Given the description of an element on the screen output the (x, y) to click on. 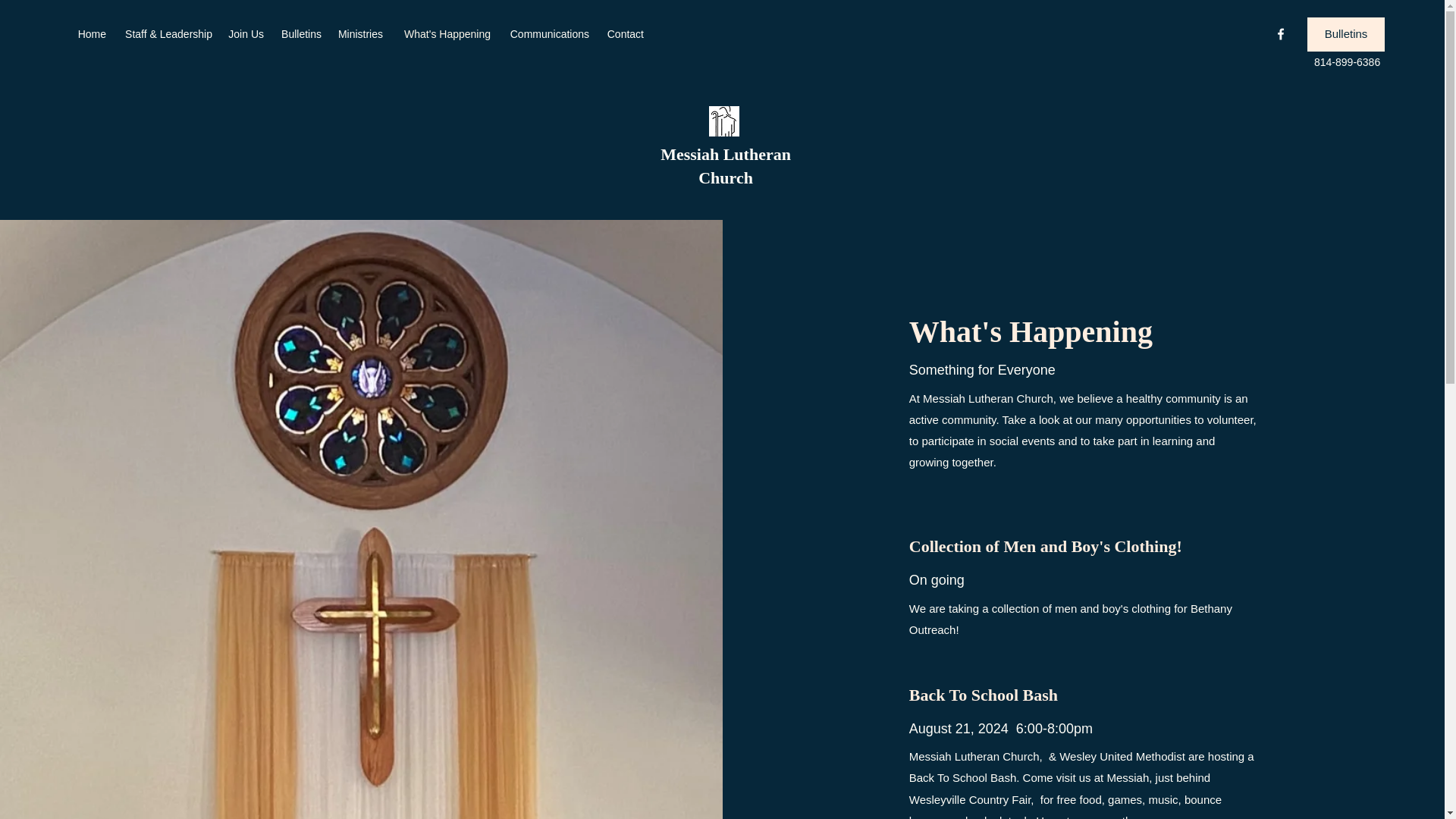
Communications (546, 33)
What's Happening (443, 33)
Ministries (359, 33)
Bulletins (1345, 34)
Home (90, 33)
Contact (623, 33)
Messiah Lutheran Church (725, 165)
Bulletins (299, 33)
Join Us (244, 33)
